Given the description of an element on the screen output the (x, y) to click on. 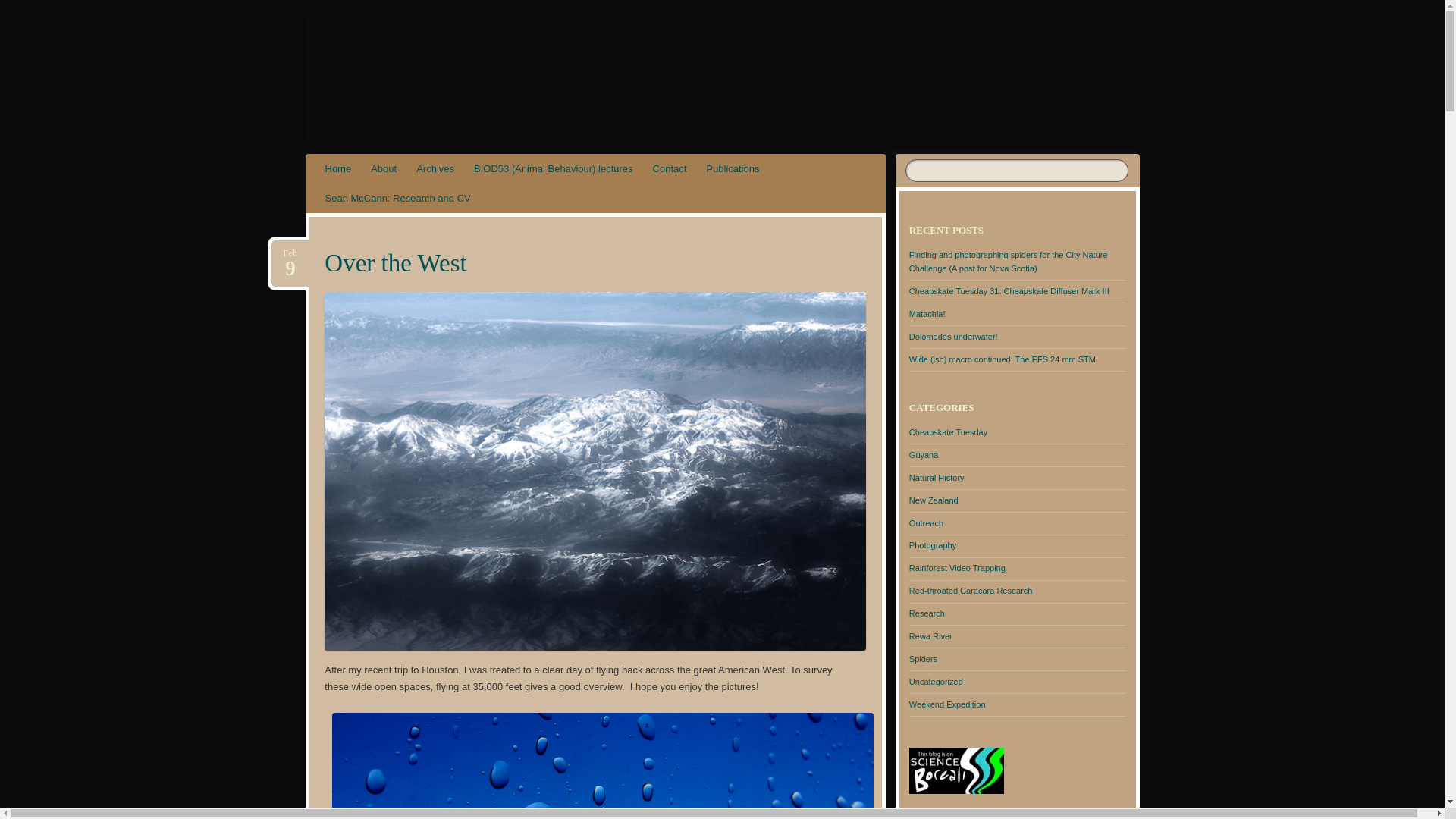
Dolomedes underwater! (952, 336)
IBYCTER (403, 60)
Publications (289, 253)
Archives (731, 168)
Search (435, 168)
Ibycter (21, 7)
About (403, 60)
Guyana (383, 168)
Cheapskate Tuesday 31: Cheapskate Diffuser Mark III (923, 454)
Home (1008, 290)
Sean McCann: Research and CV (338, 168)
February 9, 2015 (397, 197)
Contact (289, 253)
Cheapskate Tuesday (670, 168)
